Given the description of an element on the screen output the (x, y) to click on. 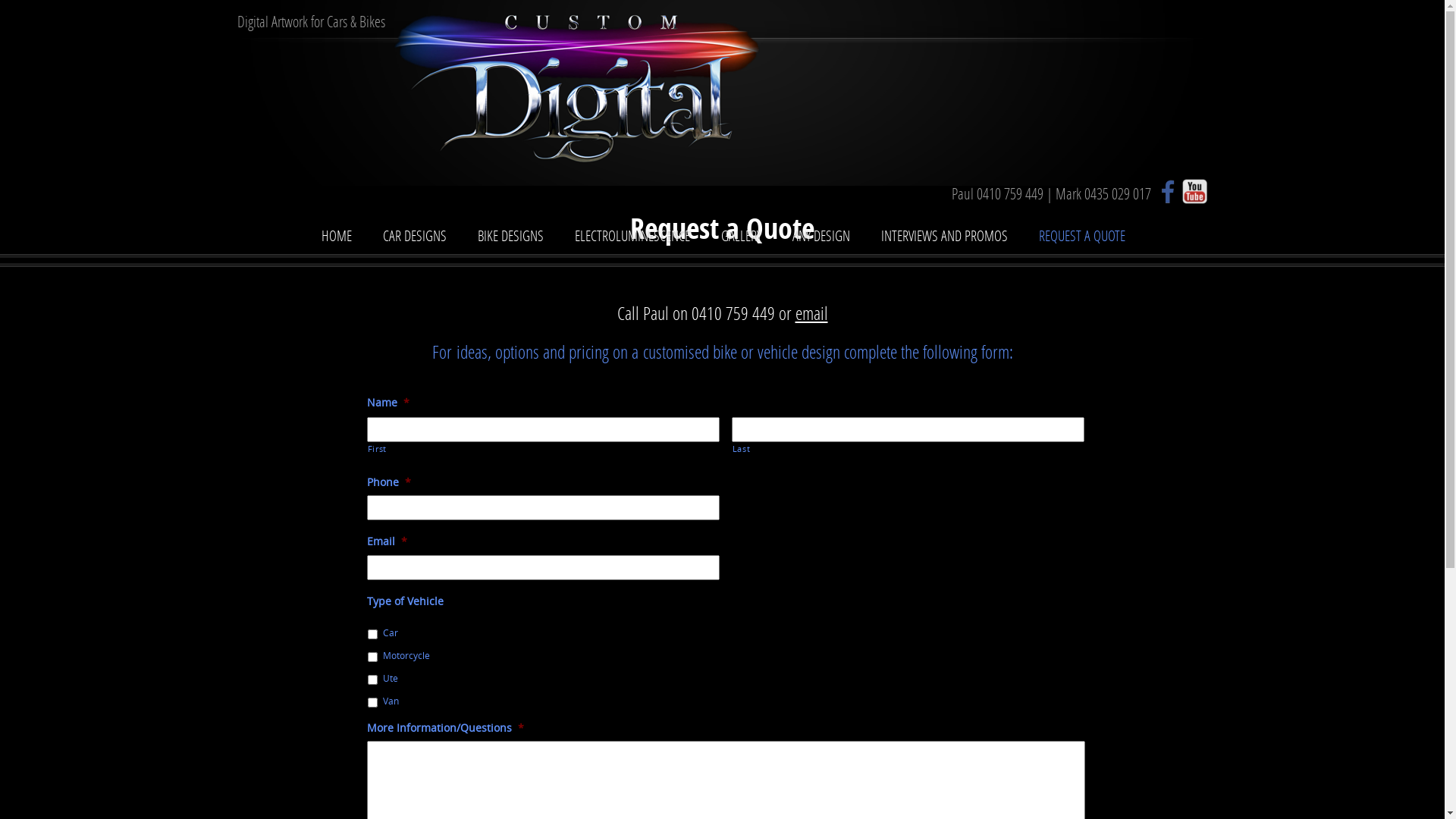
ANY DESIGN Element type: text (820, 237)
Facebook Element type: hover (1167, 191)
BIKE DESIGNS Element type: text (510, 237)
HOME Element type: text (336, 237)
0435 029 017 Element type: text (1117, 193)
REQUEST A QUOTE Element type: text (1081, 237)
0410 759 449 Element type: text (1009, 193)
INTERVIEWS AND PROMOS Element type: text (944, 237)
CAR DESIGNS Element type: text (414, 237)
GALLERY Element type: text (740, 237)
ELECTROLUMINESCENCE Element type: text (632, 237)
Youtube Element type: hover (1194, 191)
email Element type: text (810, 312)
